Given the description of an element on the screen output the (x, y) to click on. 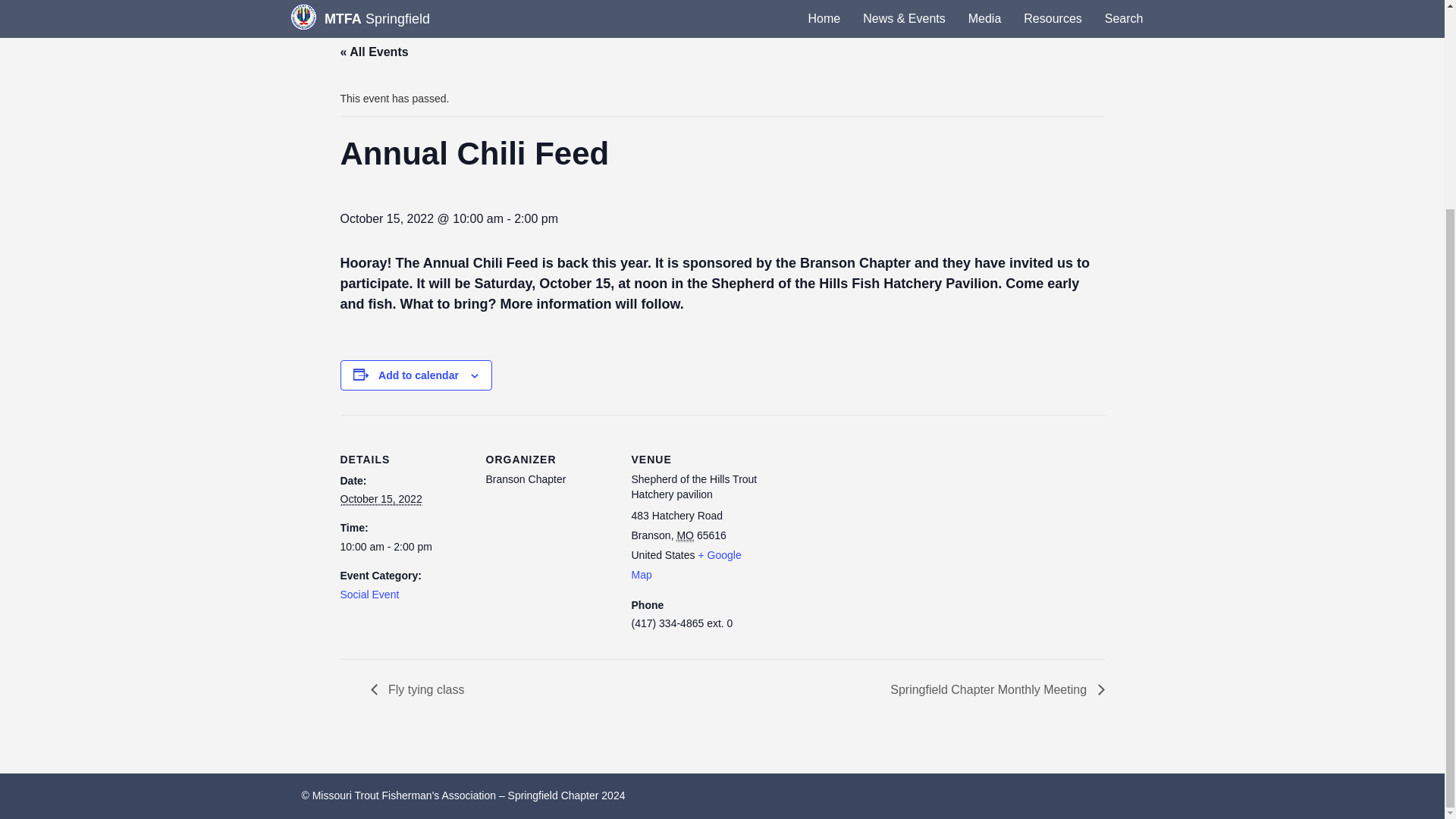
Add to calendar (418, 375)
Missouri (685, 535)
2022-10-15 (380, 499)
Click to view a Google Map (685, 564)
2022-10-15 (403, 547)
